Given the description of an element on the screen output the (x, y) to click on. 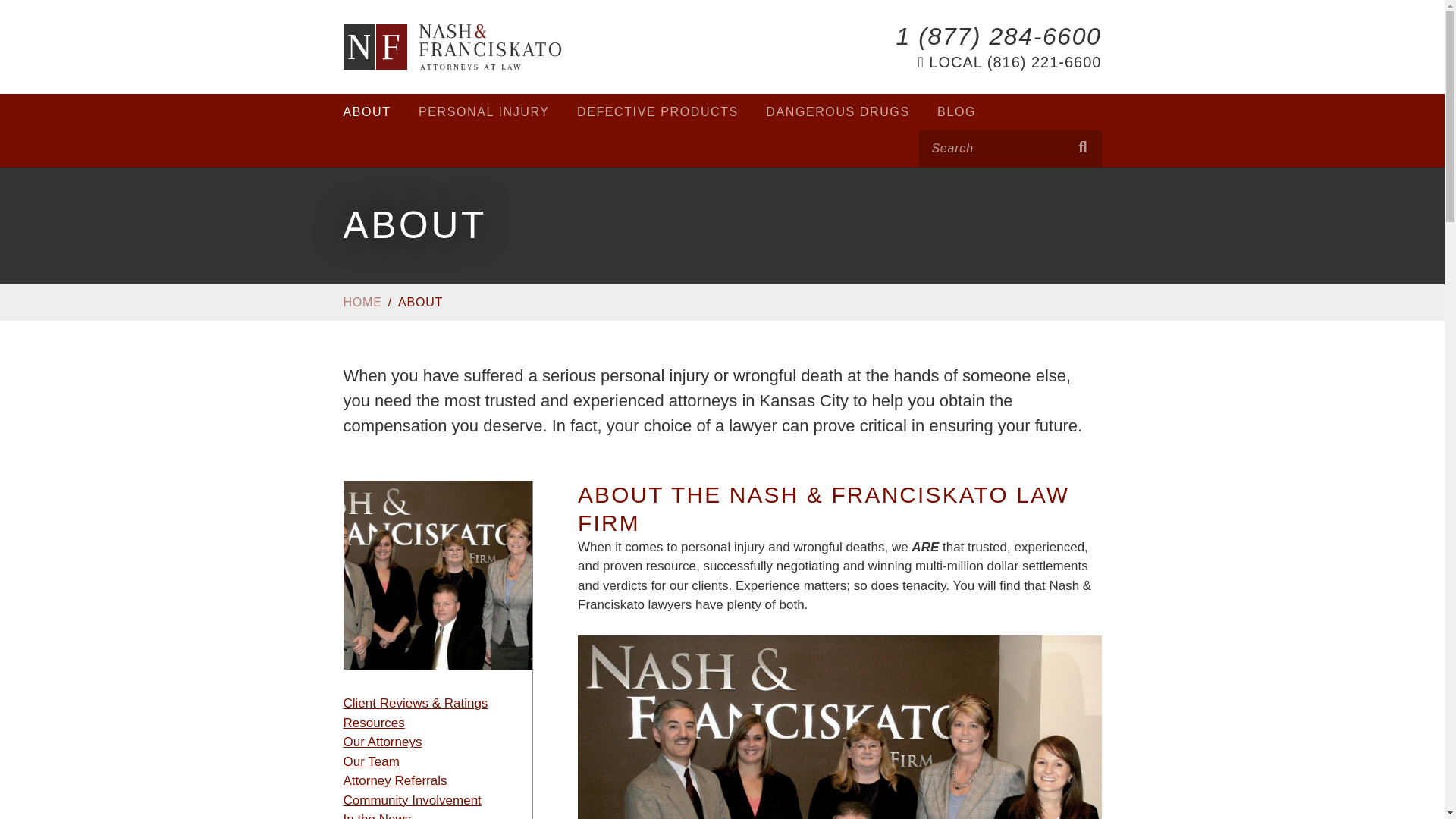
PERSONAL INJURY (483, 112)
DEFECTIVE PRODUCTS (657, 112)
Let our experience get you the results you deserve. (452, 46)
ABOUT (366, 112)
